Given the description of an element on the screen output the (x, y) to click on. 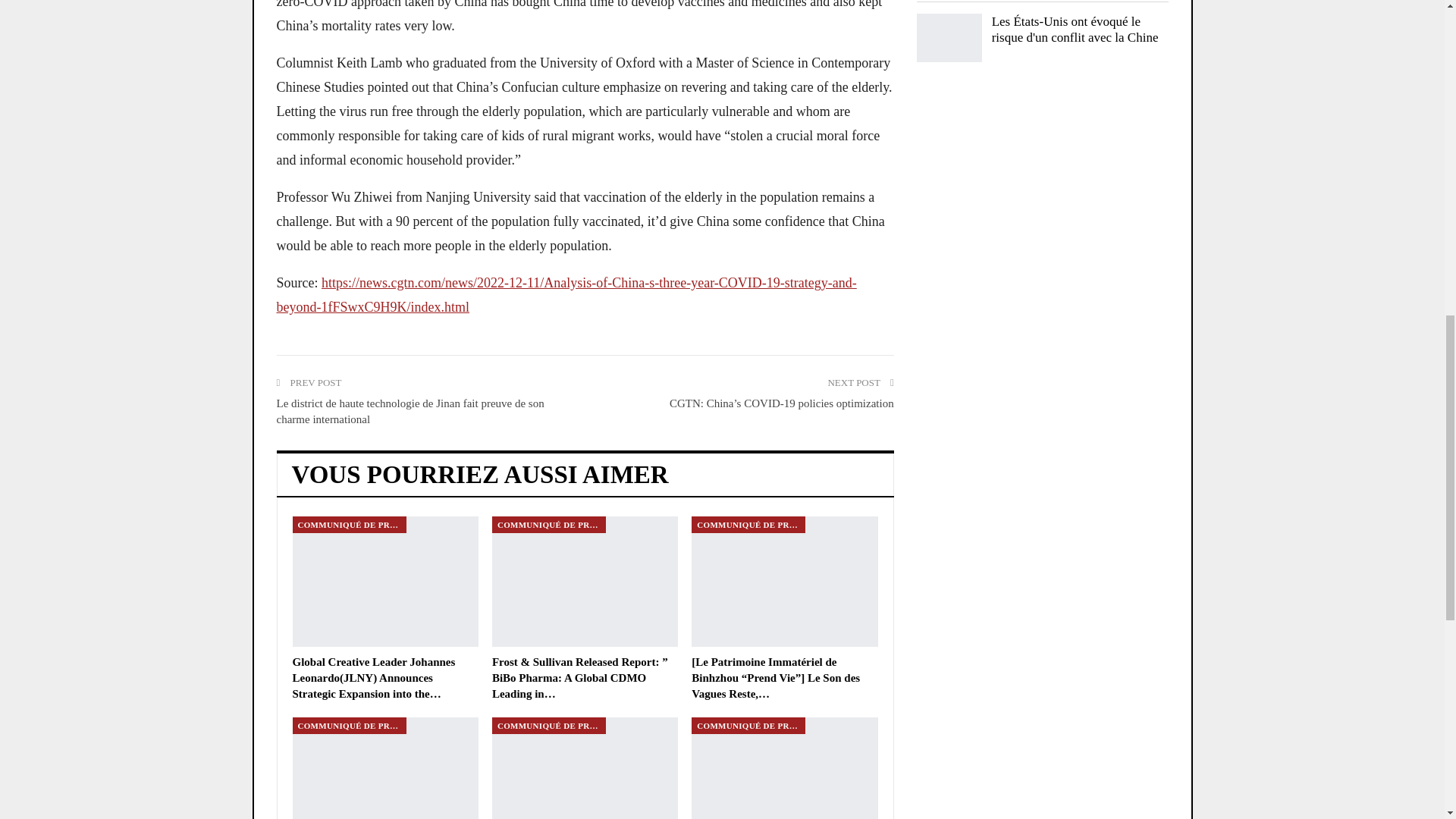
Envo Takes the Global Stage: Dazzling Debut on Nasdaq Screen (385, 768)
